Given the description of an element on the screen output the (x, y) to click on. 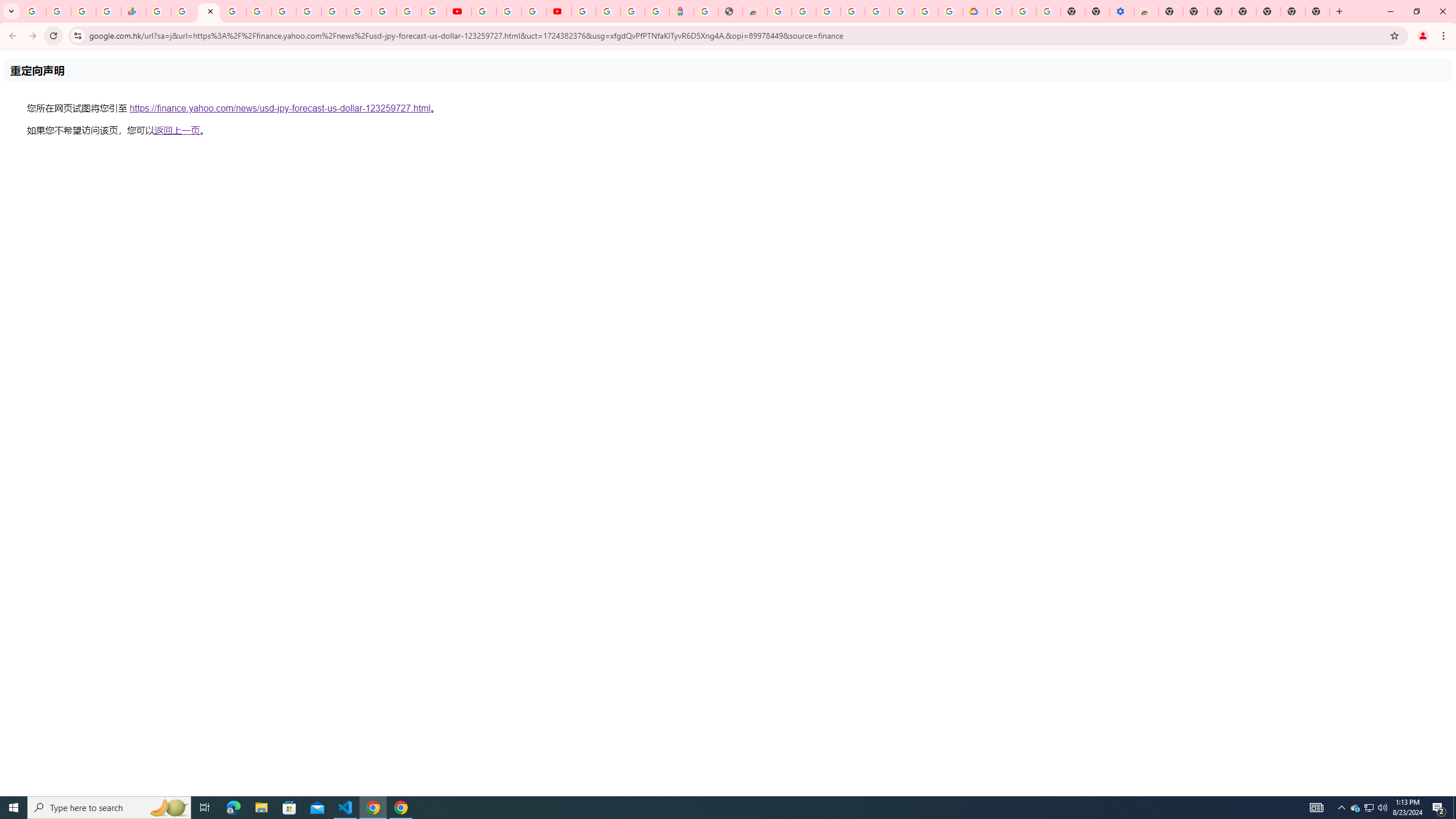
Sign in - Google Accounts (608, 11)
Chrome Web Store - Household (754, 11)
Content Creator Programs & Opportunities - YouTube Creators (558, 11)
Browse the Google Chrome Community - Google Chrome Community (950, 11)
YouTube (458, 11)
